Given the description of an element on the screen output the (x, y) to click on. 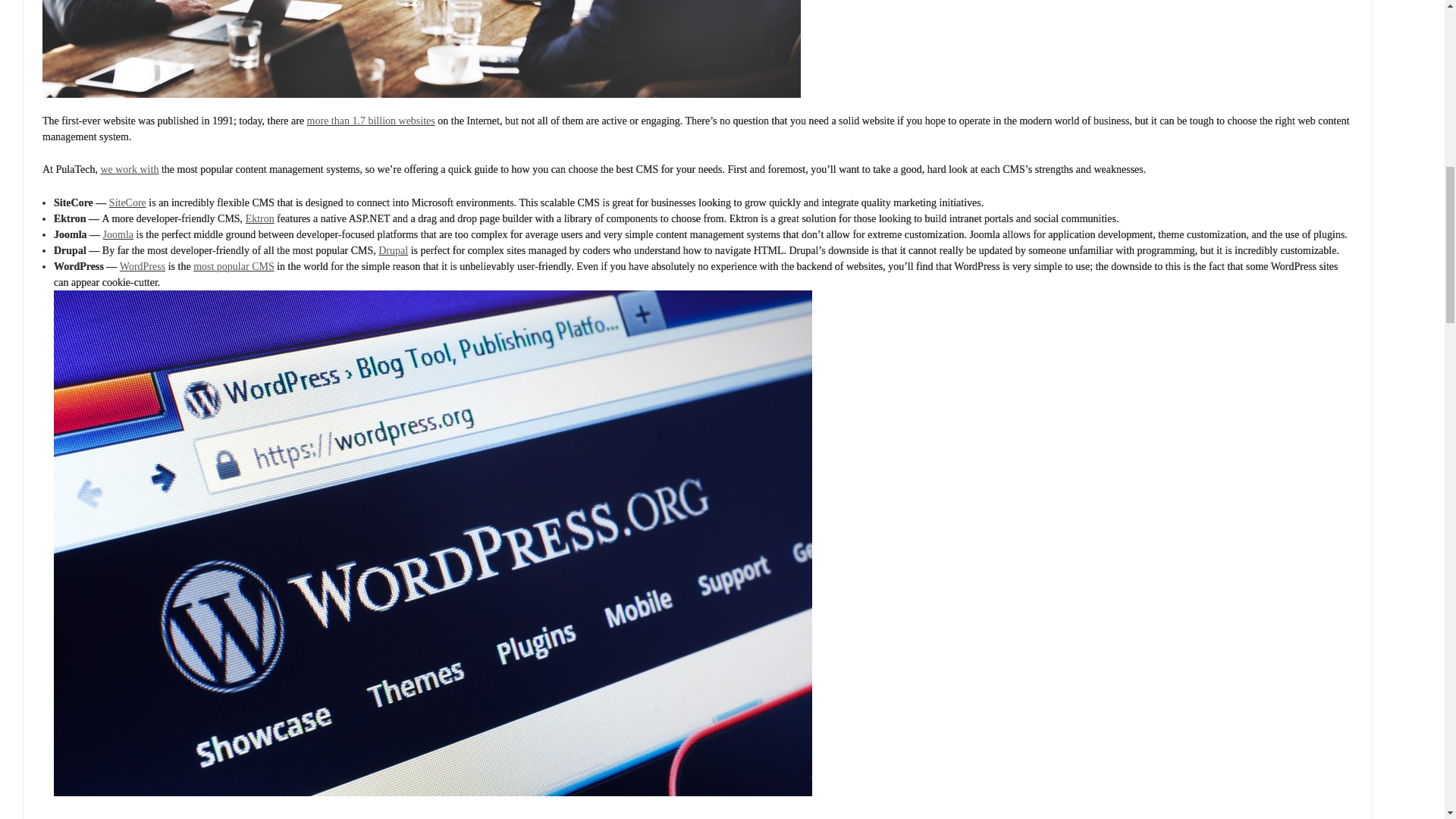
more than 1.7 billion websites (371, 120)
SiteCore (128, 202)
we work with (129, 169)
